Given the description of an element on the screen output the (x, y) to click on. 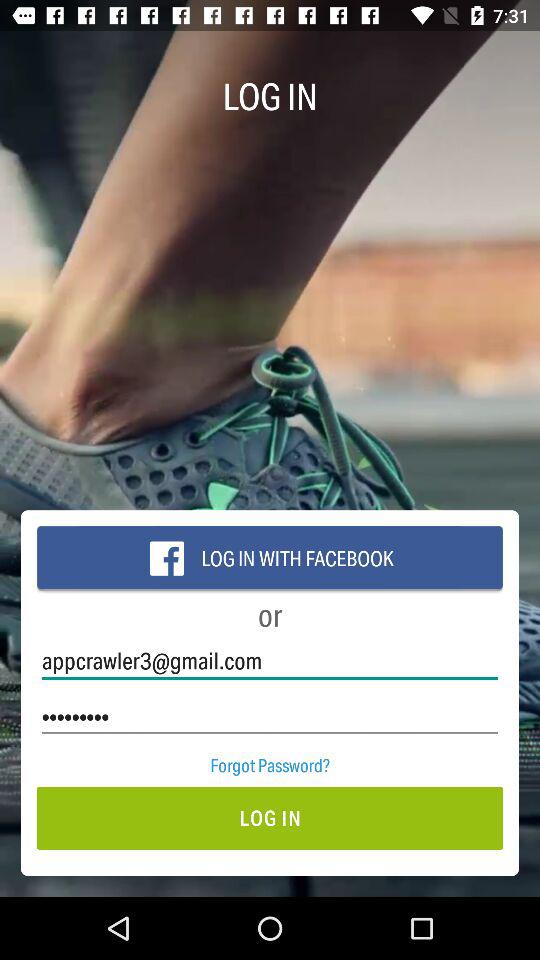
jump until crowd3116 icon (269, 715)
